Given the description of an element on the screen output the (x, y) to click on. 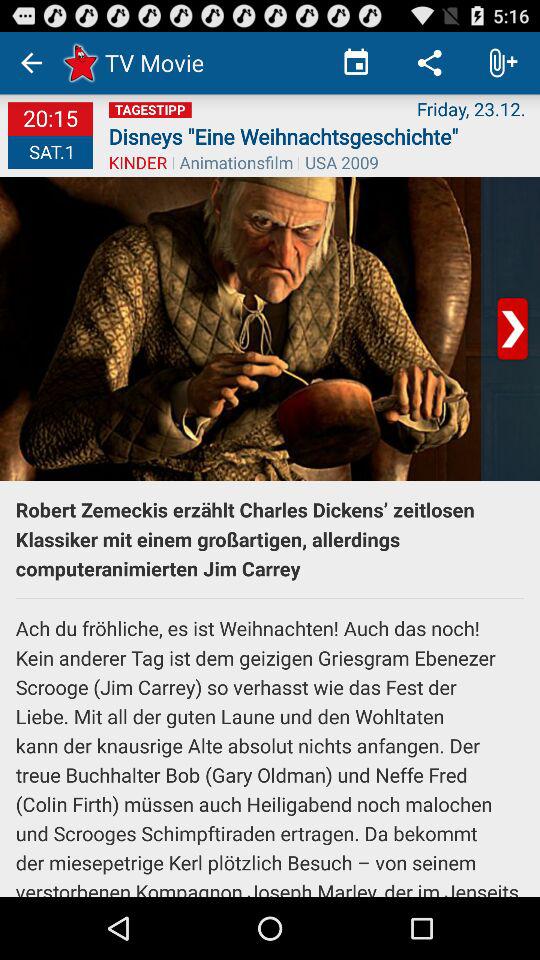
click the star mark right to left arrow icon (78, 62)
click the right arrow icon of red color right to image (512, 328)
